Given the description of an element on the screen output the (x, y) to click on. 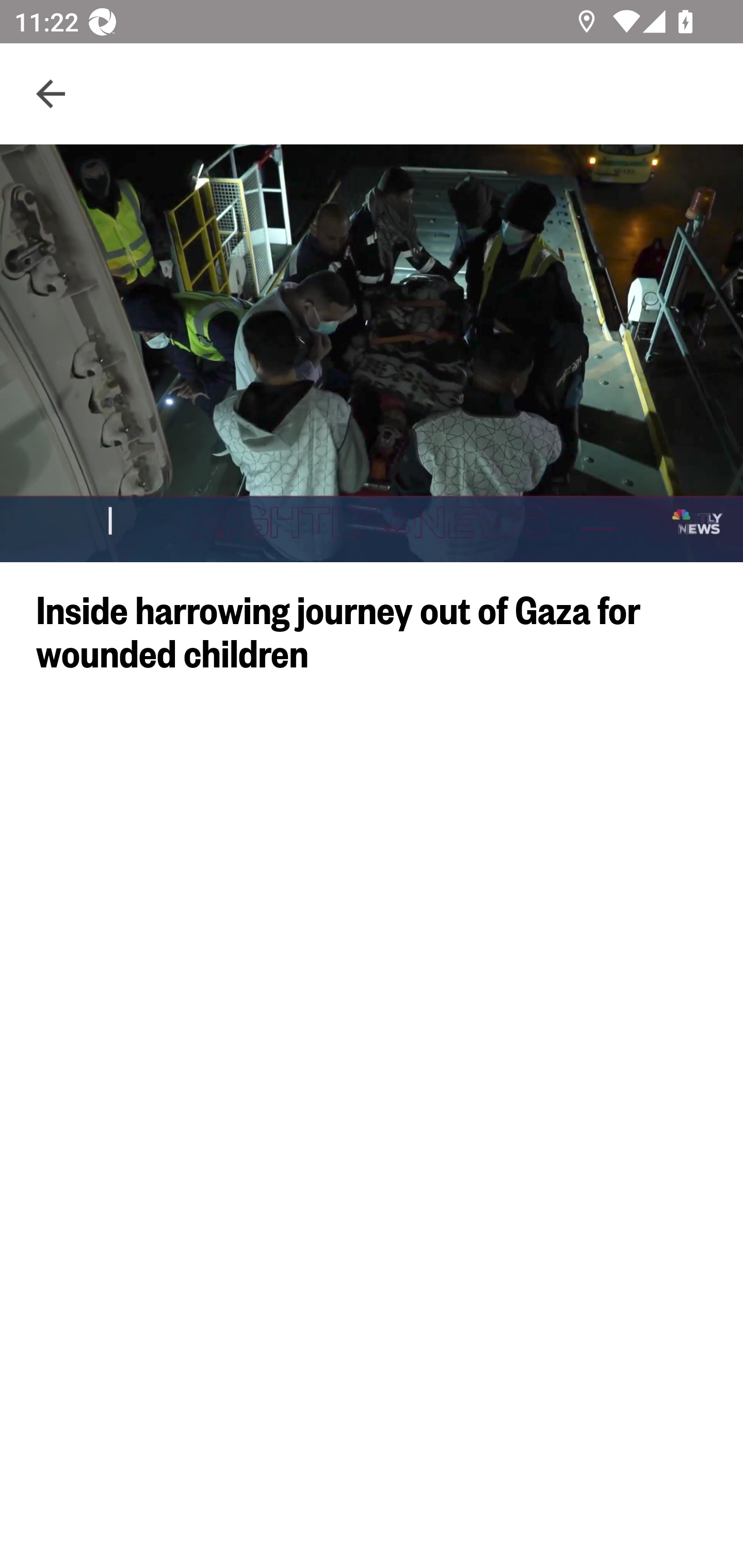
Navigate up (50, 93)
